Given the description of an element on the screen output the (x, y) to click on. 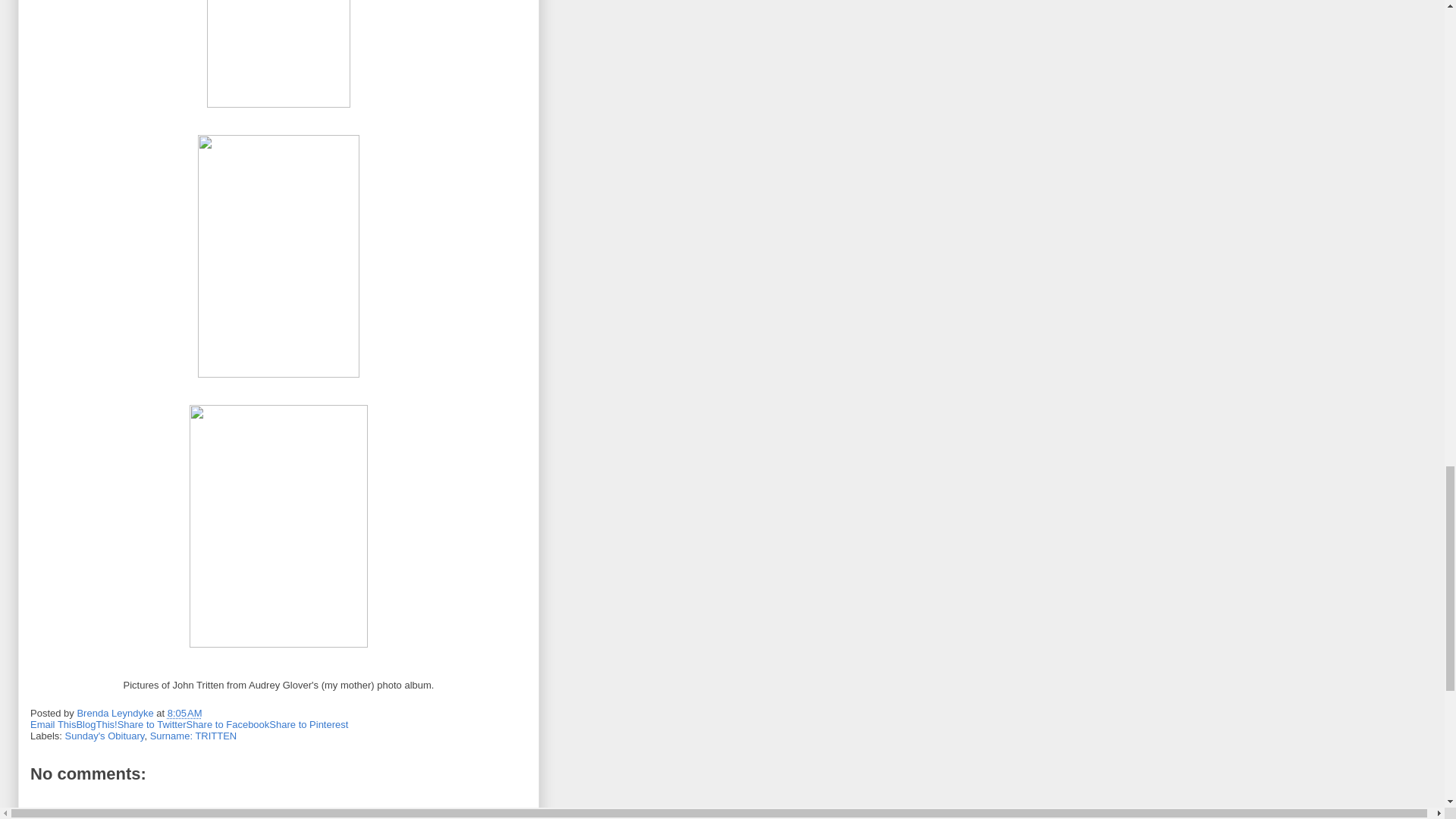
Surname: TRITTEN (193, 736)
BlogThis! (95, 724)
permanent link (184, 713)
Share to Pinterest (308, 724)
Brenda Leyndyke (116, 713)
Email Post (211, 713)
Email This (52, 724)
Share to Facebook (227, 724)
Share to Pinterest (308, 724)
